Given the description of an element on the screen output the (x, y) to click on. 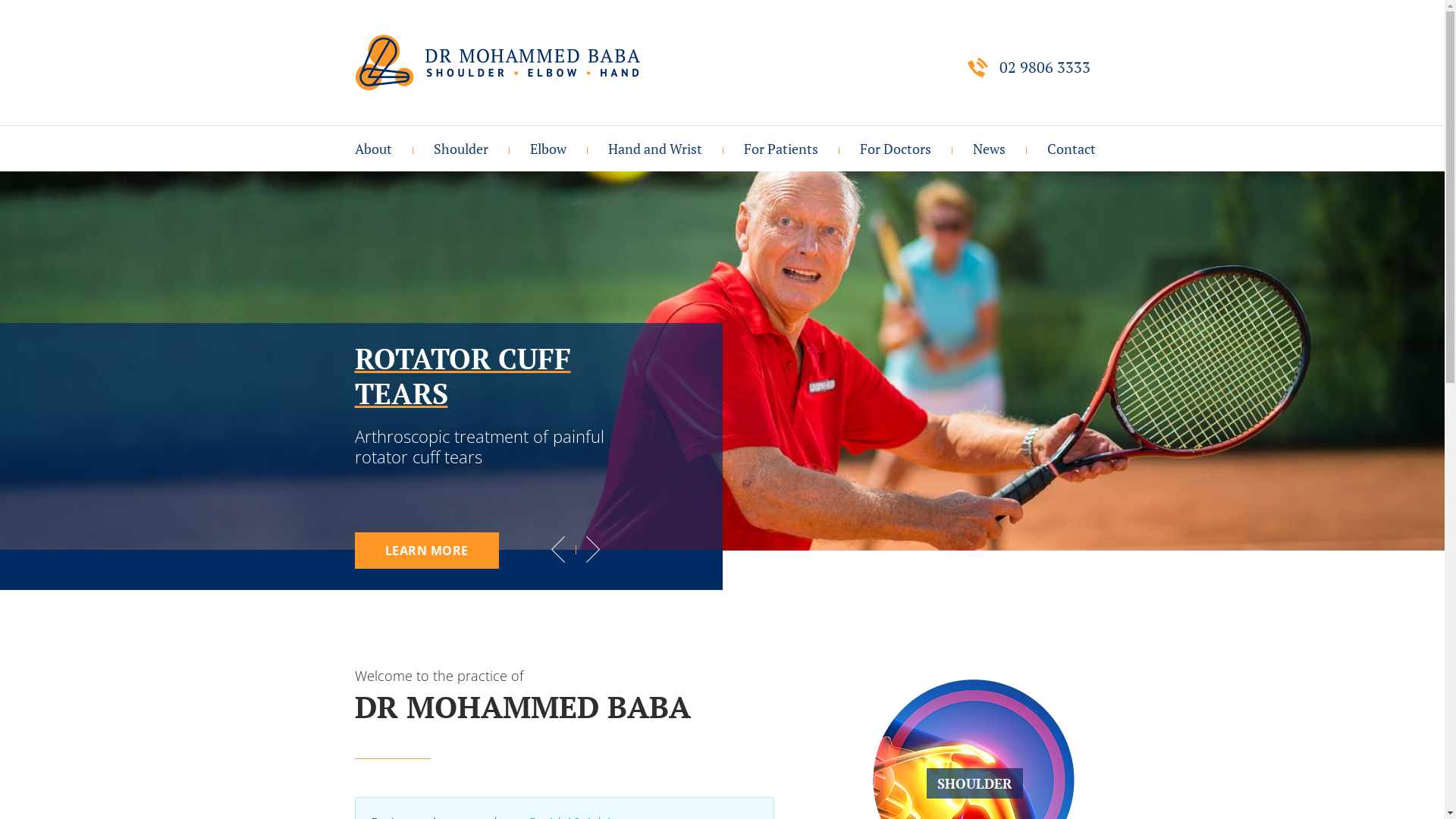
Frequently Asked Questions Element type: text (816, 393)
02 9806 3333 Element type: text (1028, 68)
TeleHealth Consultations Element type: text (816, 256)
Next Element type: text (592, 548)
Hand and Wrist Element type: text (654, 148)
Conditions Element type: text (507, 188)
Covid-19 Advisory Element type: text (816, 188)
New Patient Registration Element type: text (816, 324)
LEARN MORE Element type: text (426, 550)
Procedures Element type: text (681, 222)
Contact Us Element type: text (1000, 188)
Dr Mohammed Baba Element type: text (437, 222)
News Element type: text (987, 148)
Procedures Element type: text (602, 222)
Locations Element type: text (1000, 222)
Your Visit Element type: text (816, 222)
Conditions Element type: text (602, 188)
Conditions Element type: text (681, 188)
Our Team Element type: text (437, 256)
Shoulder Element type: text (460, 148)
Patient Referral Element type: text (933, 188)
Procedures Element type: text (507, 222)
Skip to main content Element type: text (64, 0)
For Doctors Element type: text (894, 148)
Previous Element type: text (557, 548)
Elbow Element type: text (547, 148)
For Patients Element type: text (779, 148)
Fees and Payment Element type: text (816, 290)
Contact Element type: text (1060, 148)
Appointment Request Element type: text (816, 359)
Our Practice Element type: text (437, 188)
About Element type: text (376, 148)
